Given the description of an element on the screen output the (x, y) to click on. 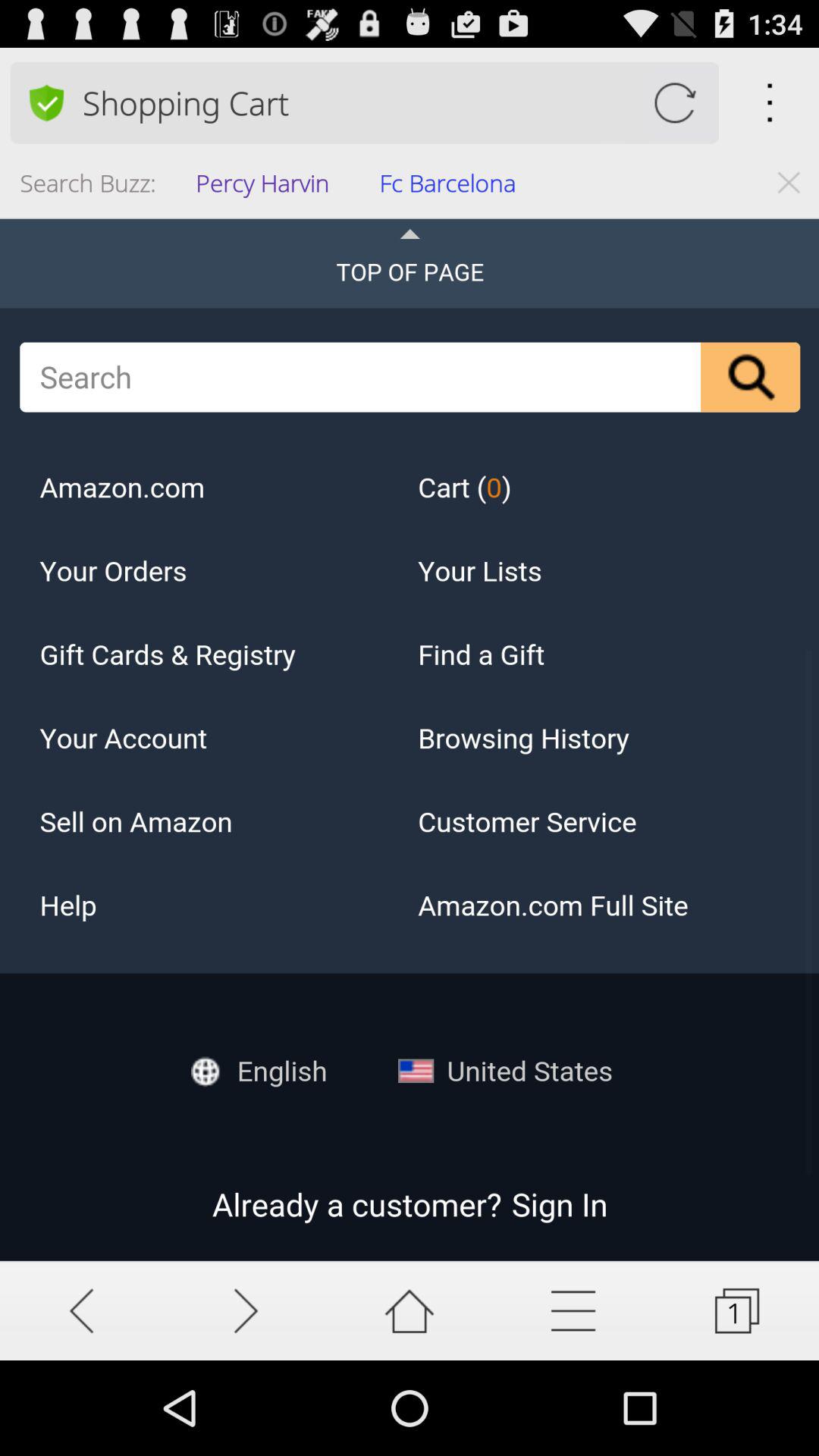
turn on app next to the percy harvin icon (452, 187)
